Given the description of an element on the screen output the (x, y) to click on. 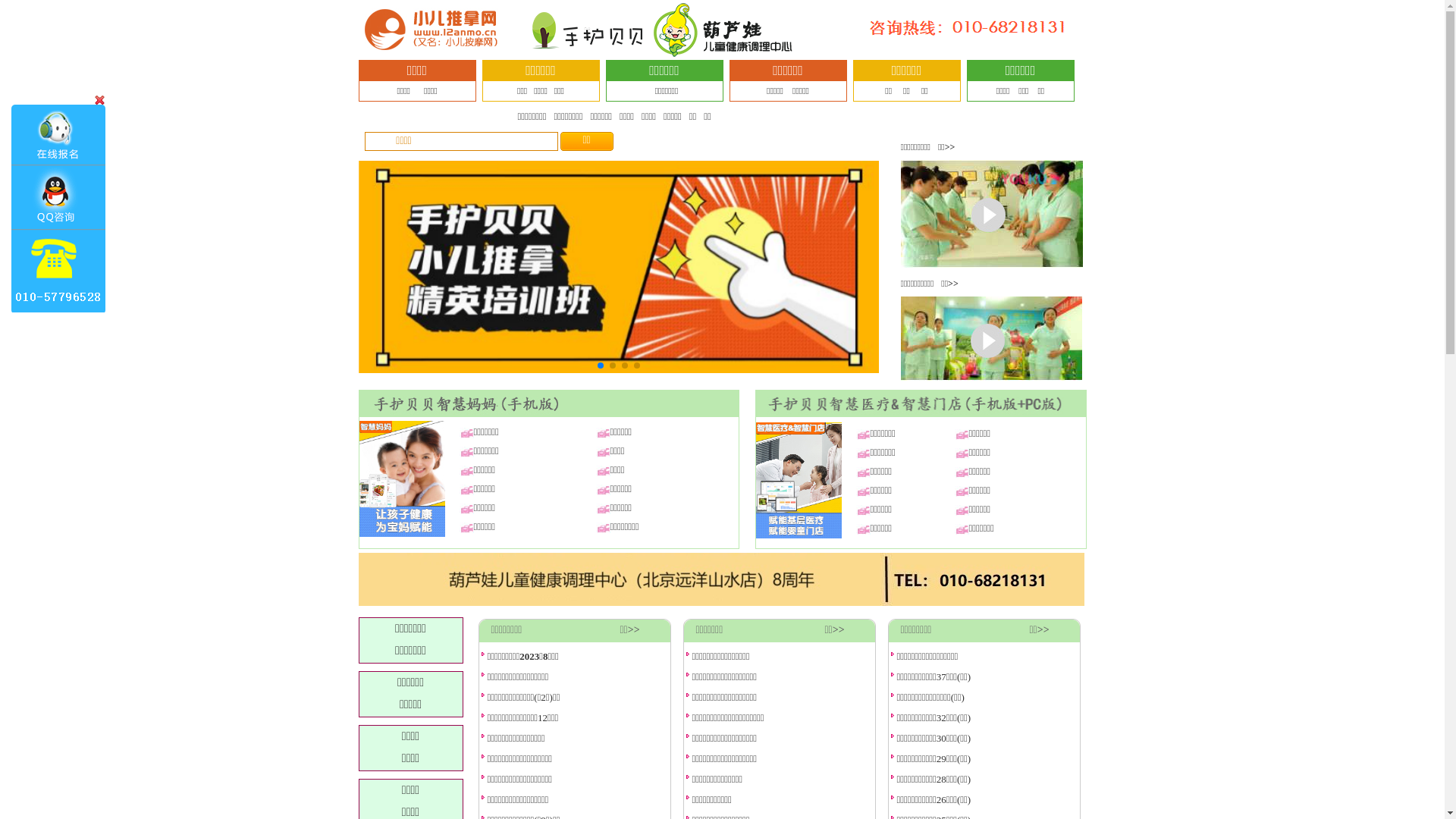
  Element type: text (59, 208)
